Given the description of an element on the screen output the (x, y) to click on. 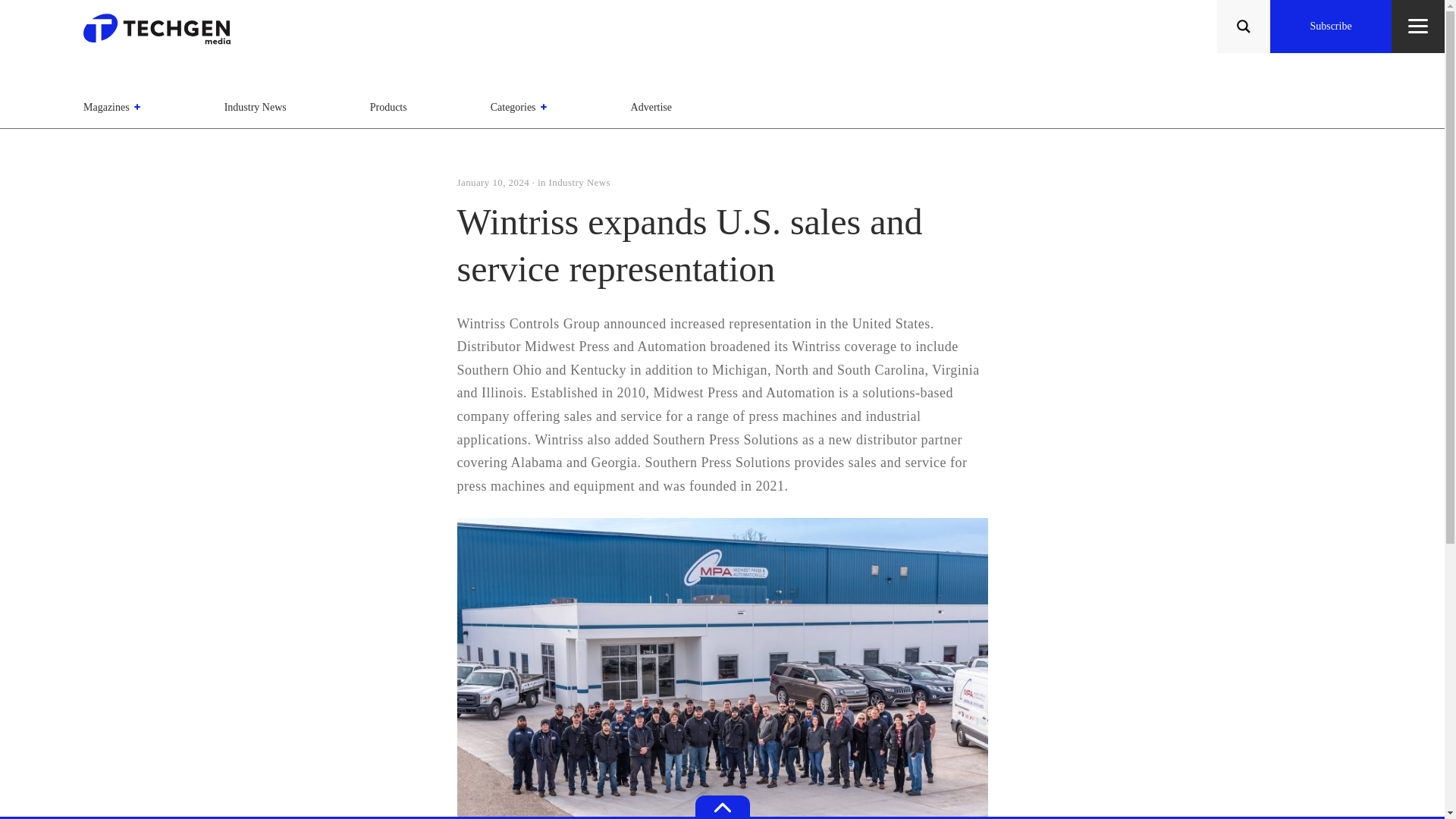
Industry News (255, 107)
Categories (518, 107)
Products (388, 107)
Subscribe (1330, 26)
Magazines (111, 107)
Back to the homepage (162, 32)
